Given the description of an element on the screen output the (x, y) to click on. 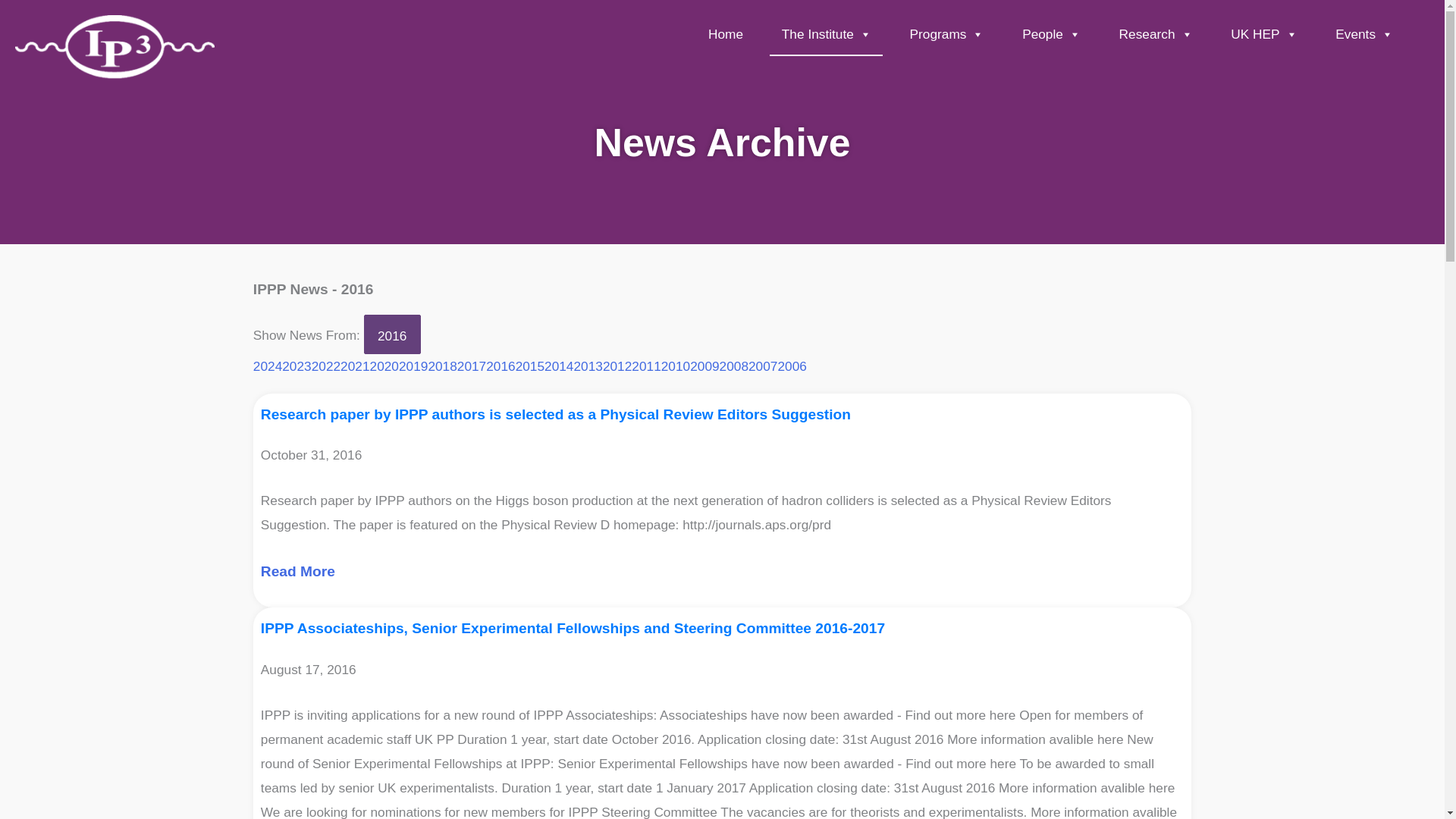
The Institute (826, 35)
2016 (392, 333)
UK HEP (1264, 35)
2024 (267, 365)
2022 (325, 365)
Research (1155, 35)
People (1051, 35)
Events (1364, 35)
Programs (946, 35)
Home (726, 35)
2023 (296, 365)
